Given the description of an element on the screen output the (x, y) to click on. 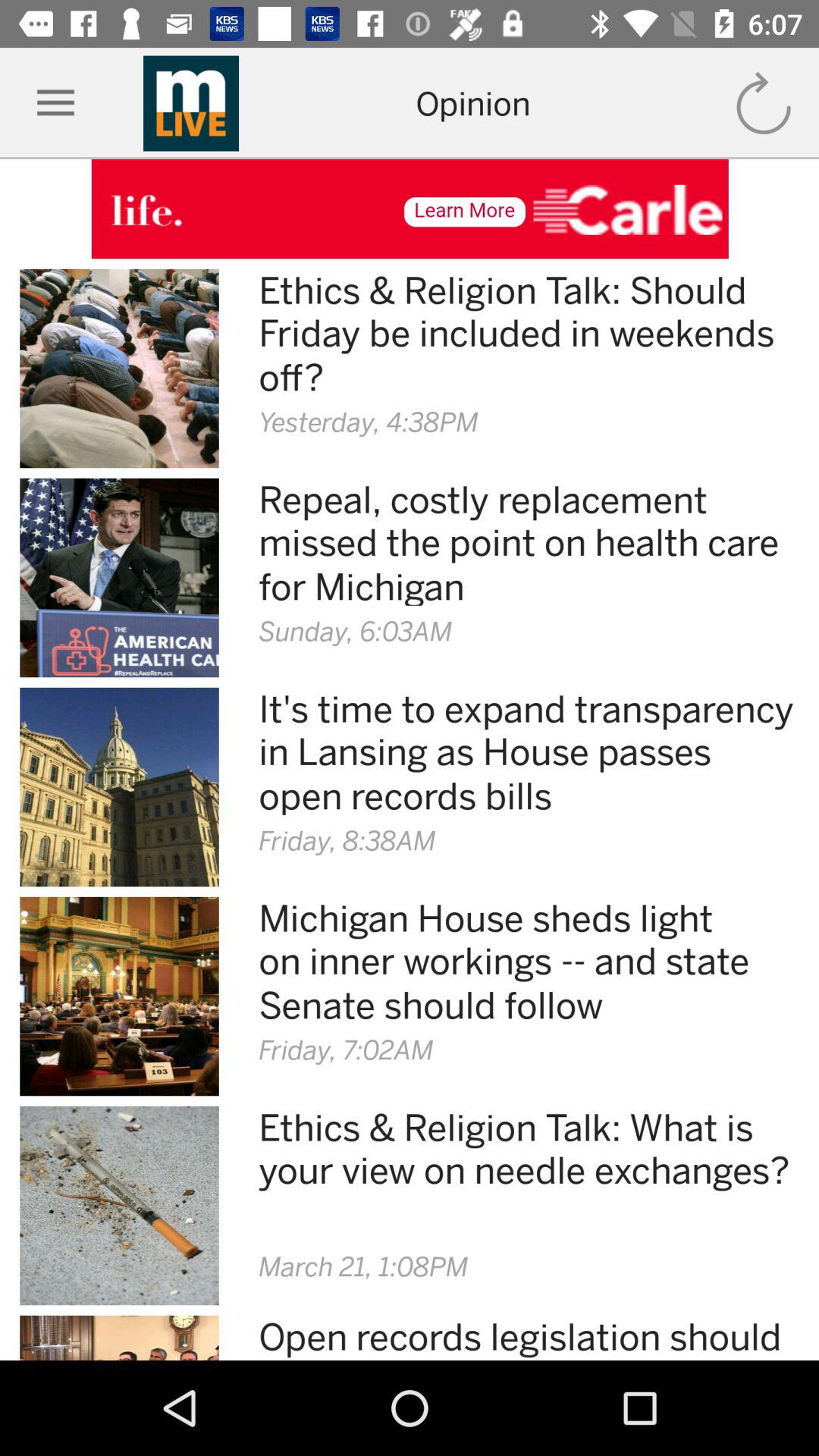
advert (409, 208)
